Given the description of an element on the screen output the (x, y) to click on. 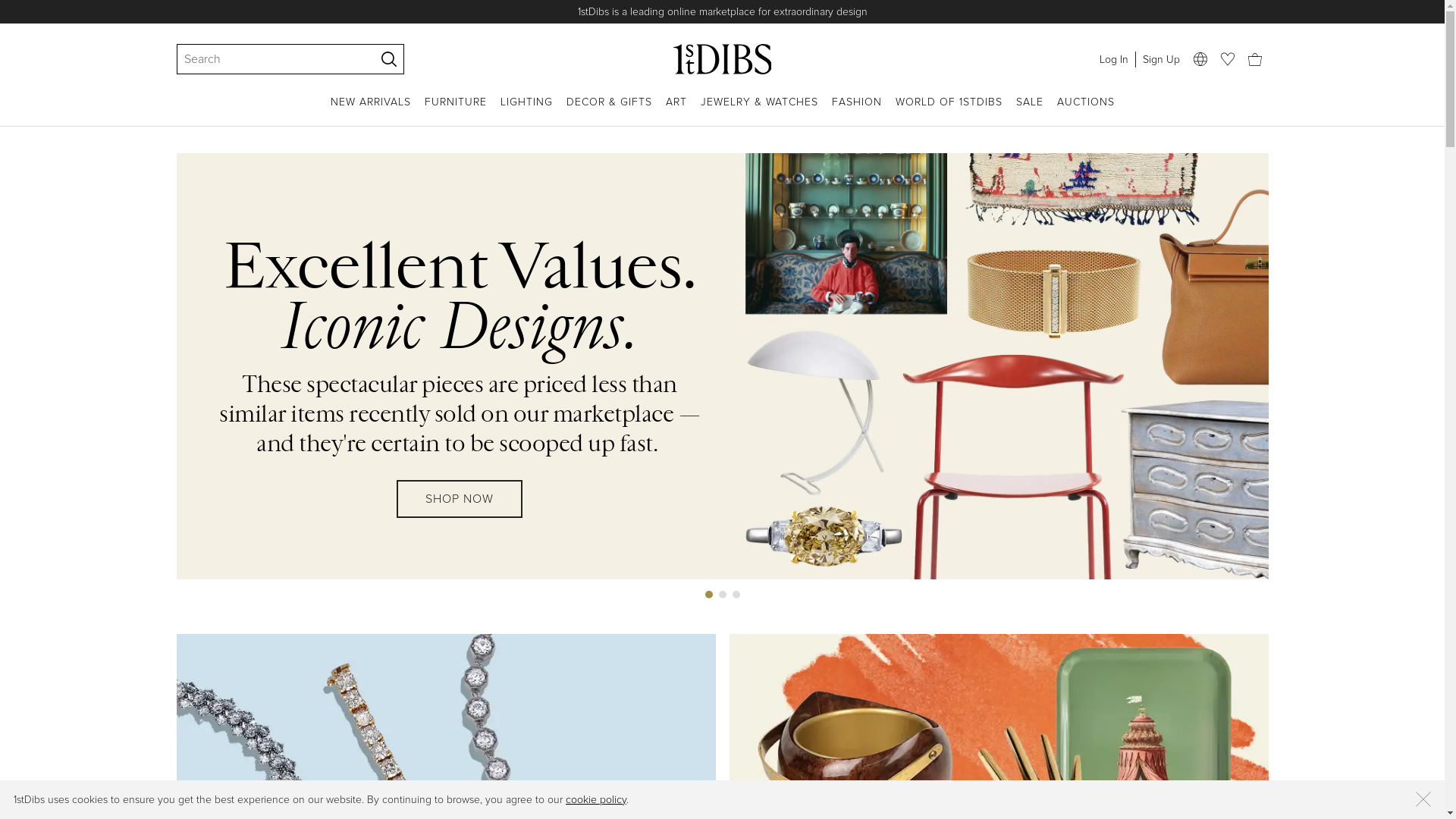
SHOP NOW Element type: text (459, 512)
ART Element type: text (676, 109)
FURNITURE Element type: text (455, 109)
NEW ARRIVALS Element type: text (370, 109)
SKIP TO MAIN CONTENT Element type: text (6, 6)
AUCTIONS Element type: text (1085, 109)
LIGHTING Element type: text (526, 109)
Log In Element type: text (1113, 59)
Shop Now Element type: text (871, 11)
Search Element type: hover (268, 58)
FASHION Element type: text (856, 109)
cookie policy Element type: text (595, 799)
WORLD OF 1STDIBS Element type: text (947, 109)
Sign Up Element type: text (1160, 59)
SALE Element type: text (1029, 109)
DECOR & GIFTS Element type: text (608, 109)
JEWELRY & WATCHES Element type: text (759, 109)
